Given the description of an element on the screen output the (x, y) to click on. 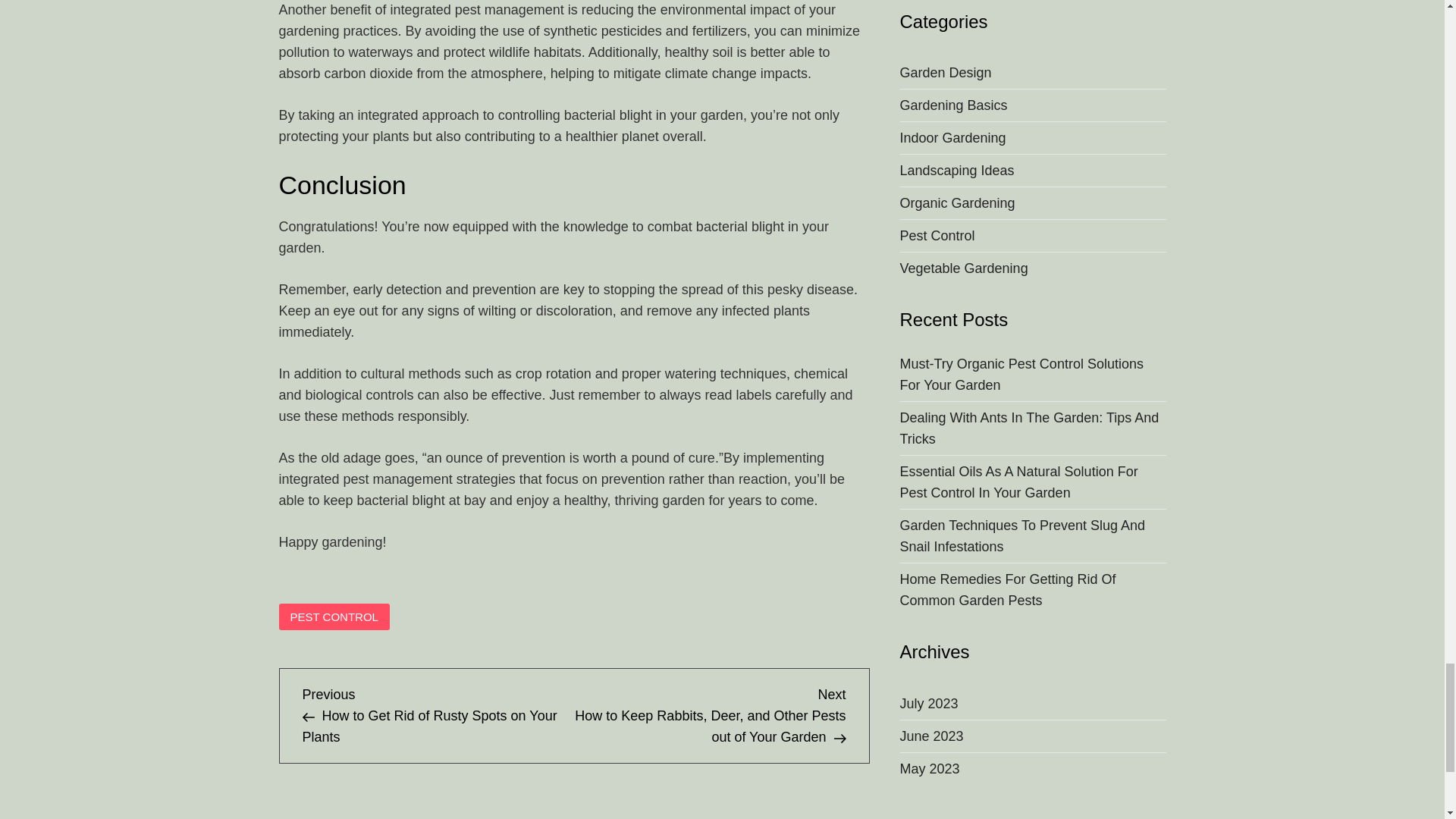
PEST CONTROL (334, 616)
